Given the description of an element on the screen output the (x, y) to click on. 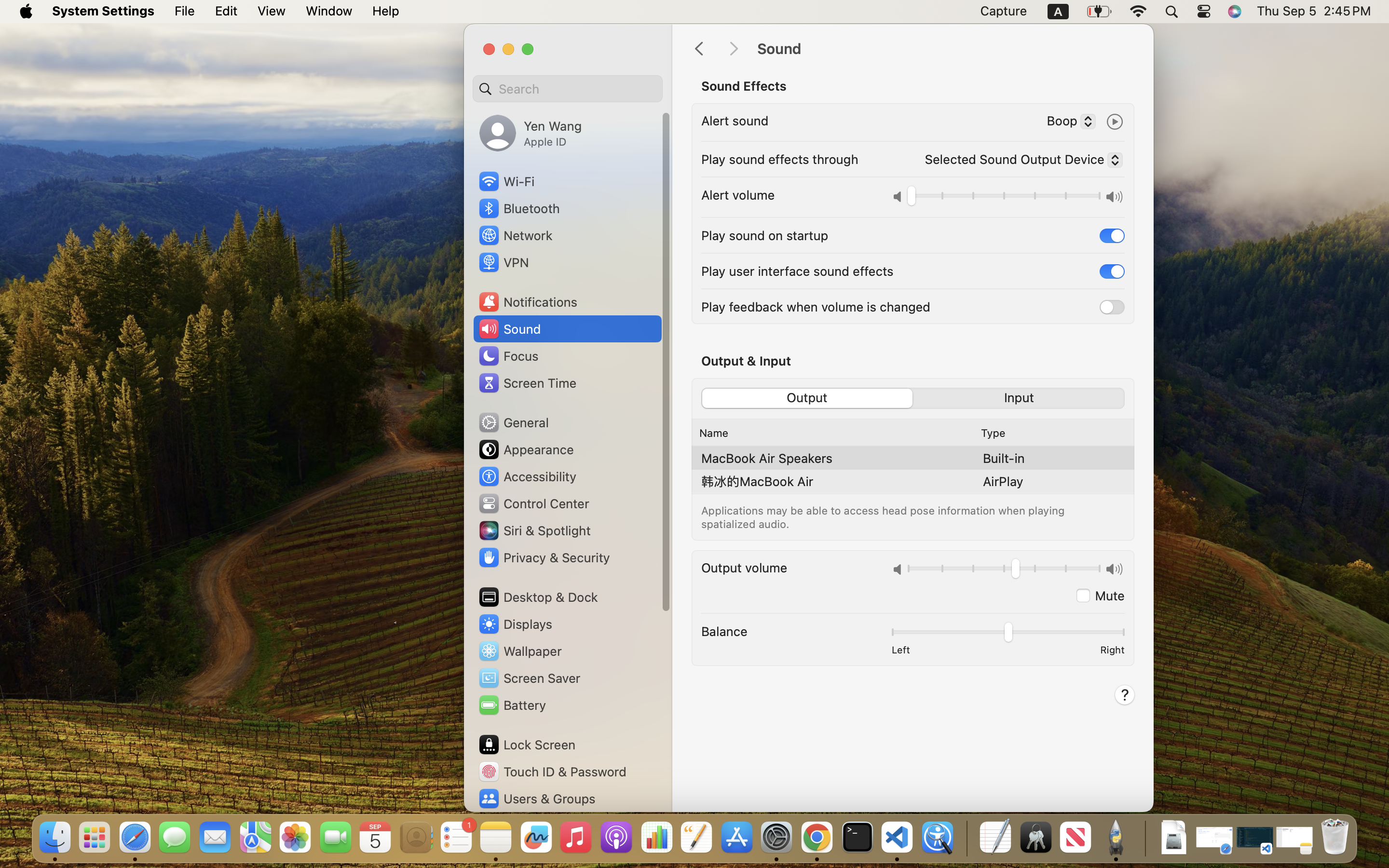
Wallpaper Element type: AXStaticText (519, 650)
Sound Element type: AXStaticText (945, 49)
Notifications Element type: AXStaticText (527, 301)
Siri & Spotlight Element type: AXStaticText (533, 530)
Privacy & Security Element type: AXStaticText (543, 557)
